Given the description of an element on the screen output the (x, y) to click on. 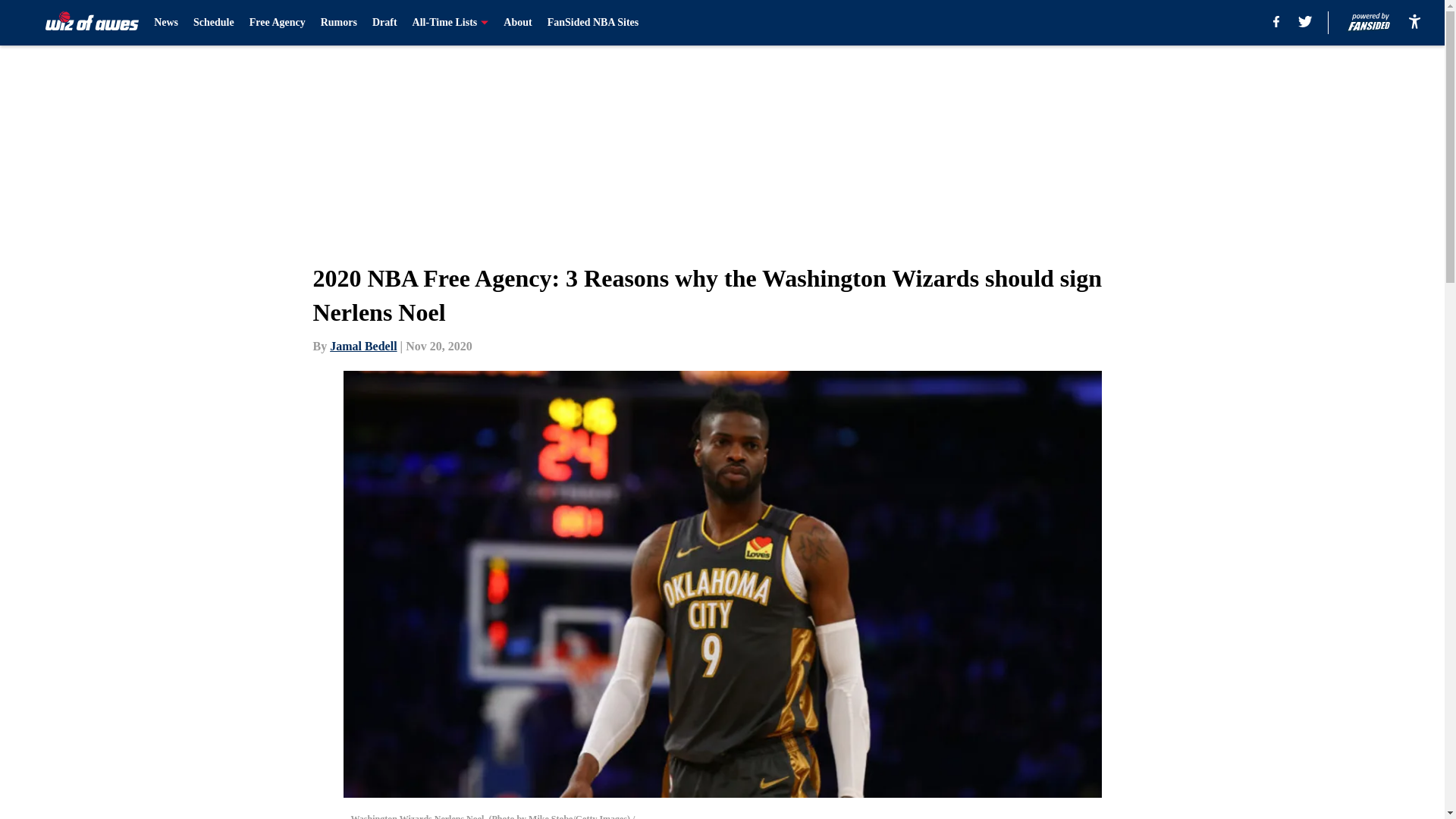
Rumors (338, 22)
News (165, 22)
Free Agency (276, 22)
About (517, 22)
Draft (384, 22)
Jamal Bedell (363, 345)
All-Time Lists (450, 22)
FanSided NBA Sites (593, 22)
Schedule (213, 22)
